Given the description of an element on the screen output the (x, y) to click on. 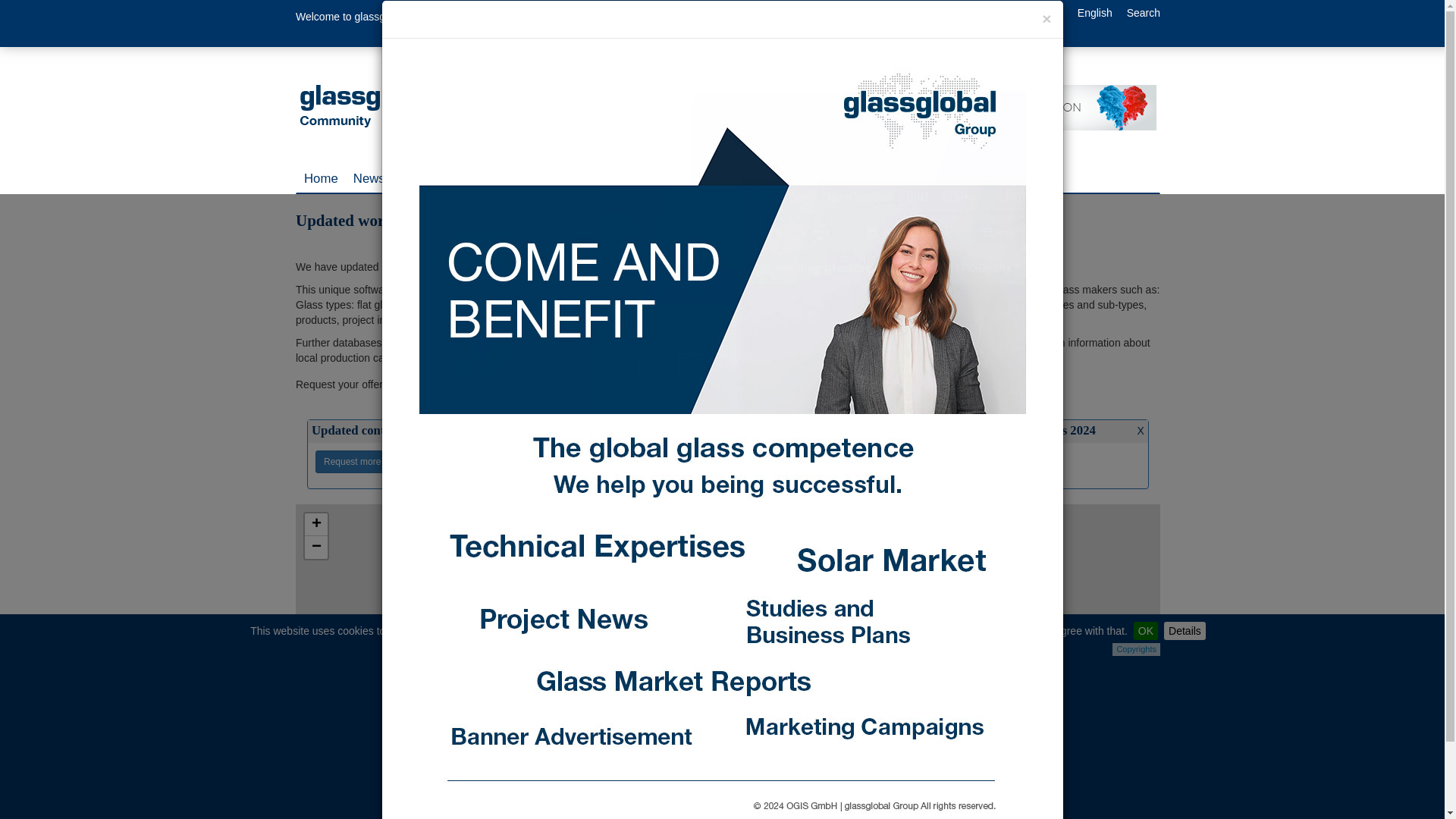
OK (1145, 630)
Technology (432, 178)
Login (996, 12)
News (369, 178)
English (1094, 12)
Zoom out (315, 547)
Search (1143, 12)
Twitter (466, 22)
Register (1042, 12)
Home (321, 178)
